Given the description of an element on the screen output the (x, y) to click on. 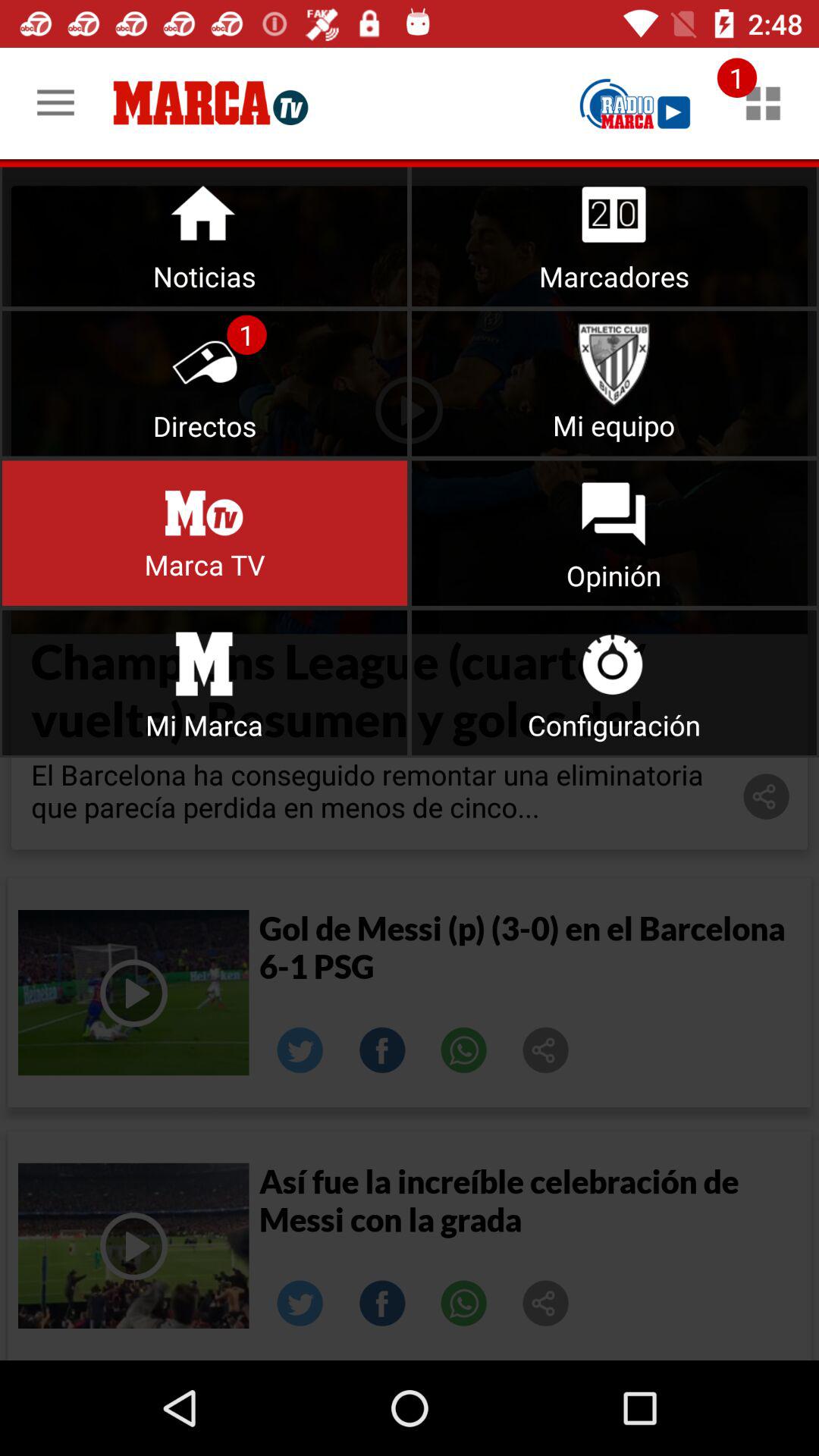
click on the home symbol (204, 233)
